Given the description of an element on the screen output the (x, y) to click on. 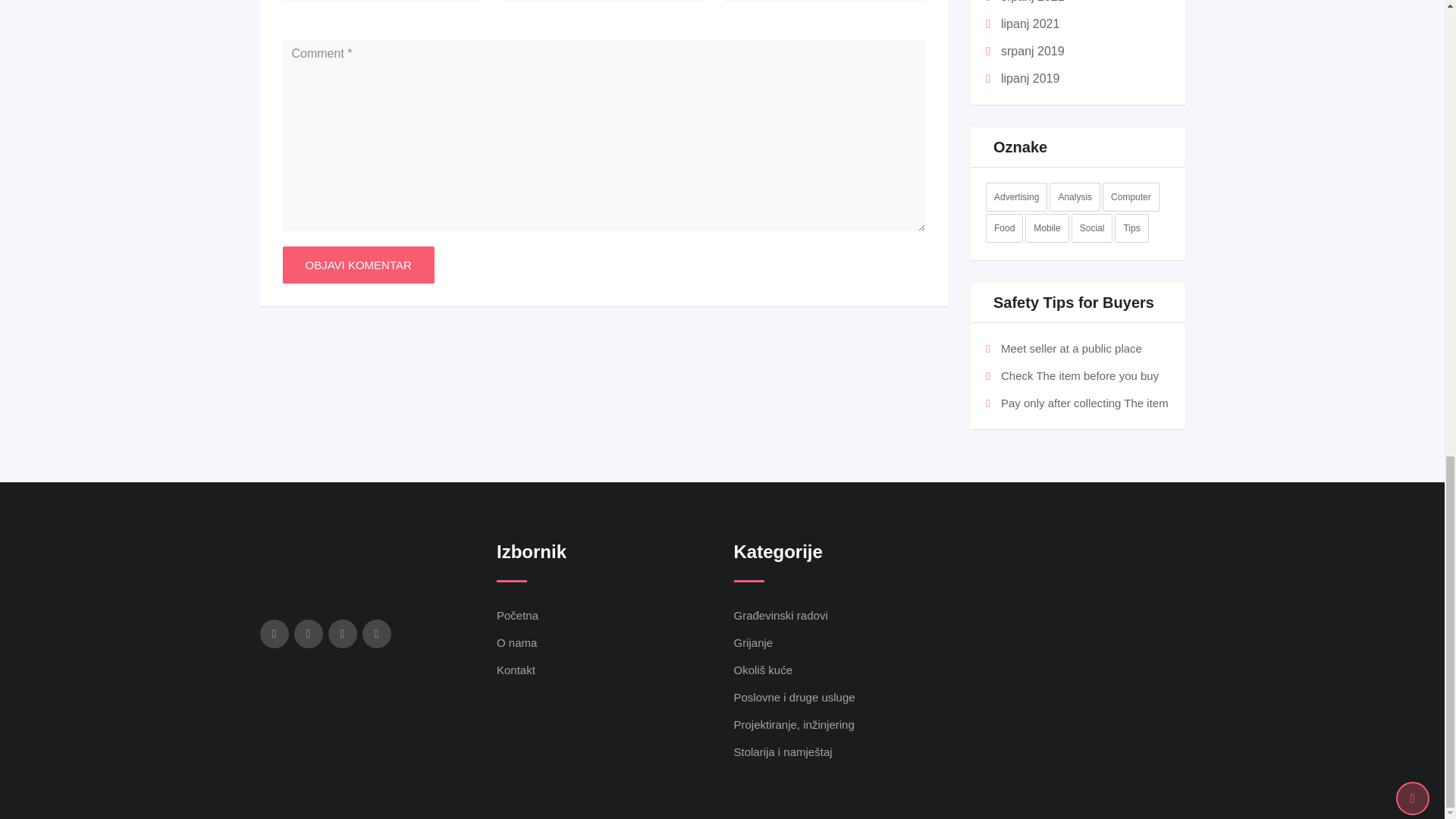
Objavi komentar (357, 264)
Please wait until Google reCaptcha is loaded. (357, 264)
Objavi komentar (357, 264)
